Given the description of an element on the screen output the (x, y) to click on. 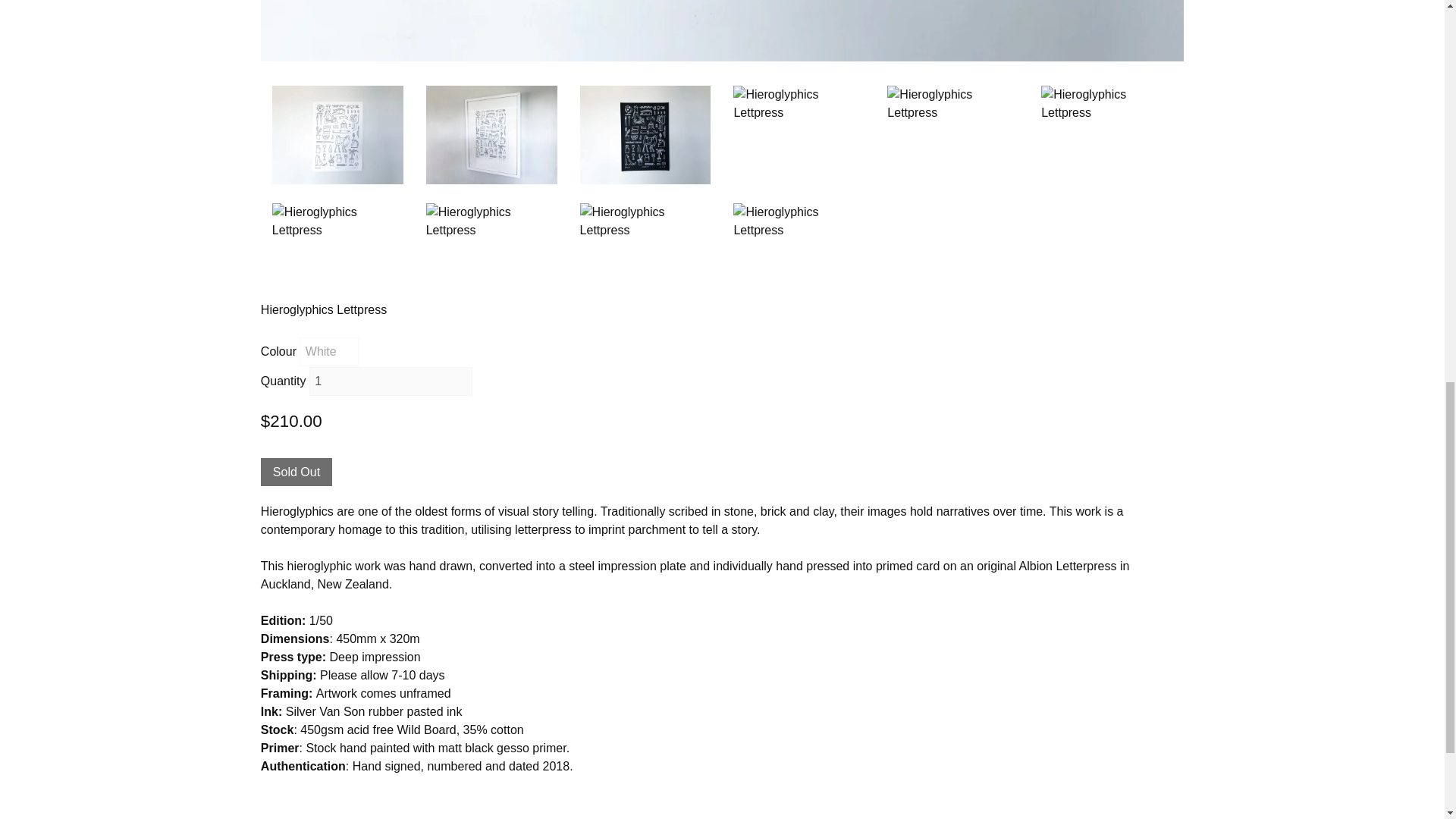
1 (389, 380)
Sold Out (295, 471)
